Given the description of an element on the screen output the (x, y) to click on. 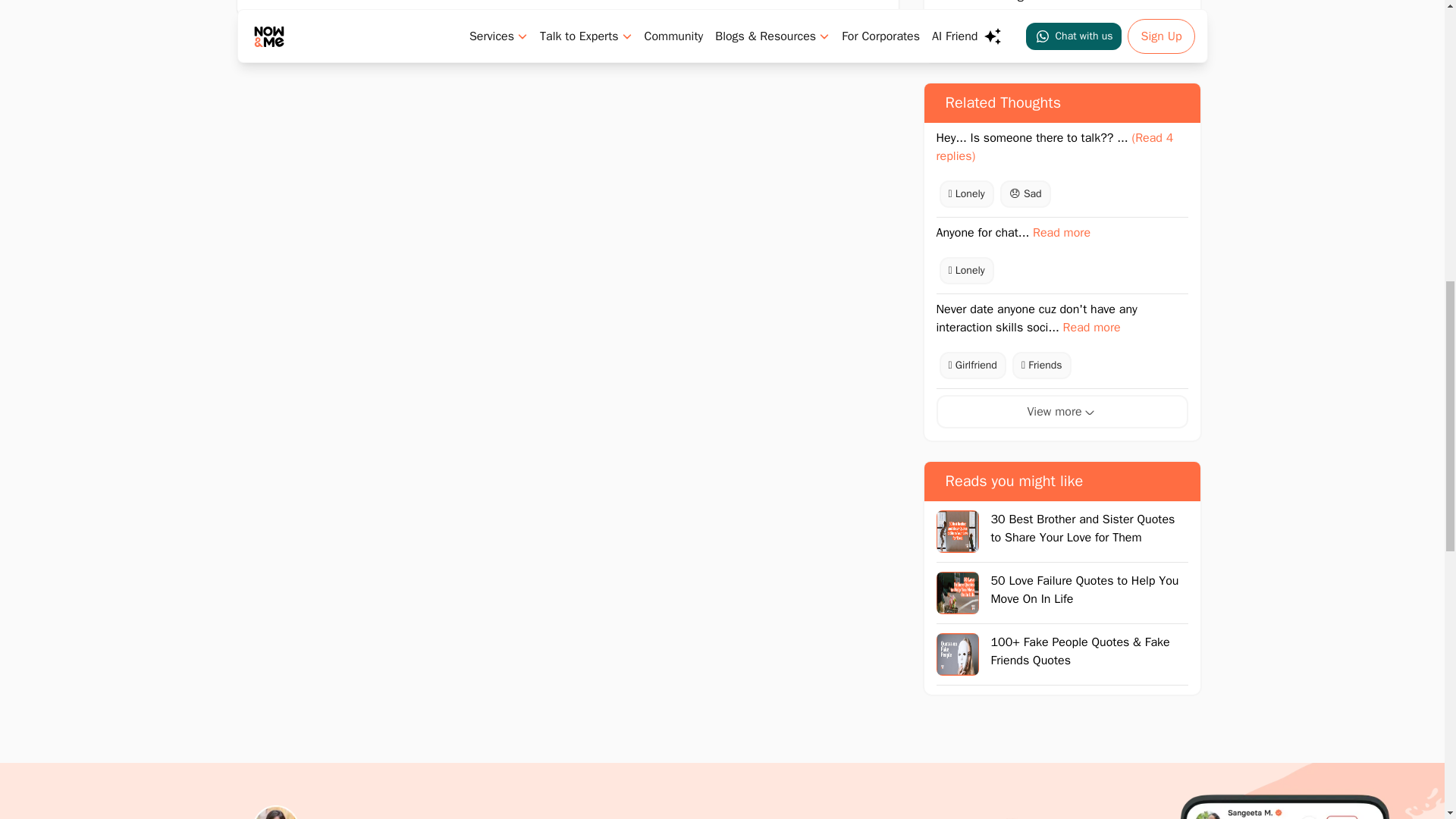
Share on Twitter (1061, 32)
Share on Twitter (1115, 32)
Share on WhatsApp (952, 32)
Share on Twitter (1006, 32)
